Given the description of an element on the screen output the (x, y) to click on. 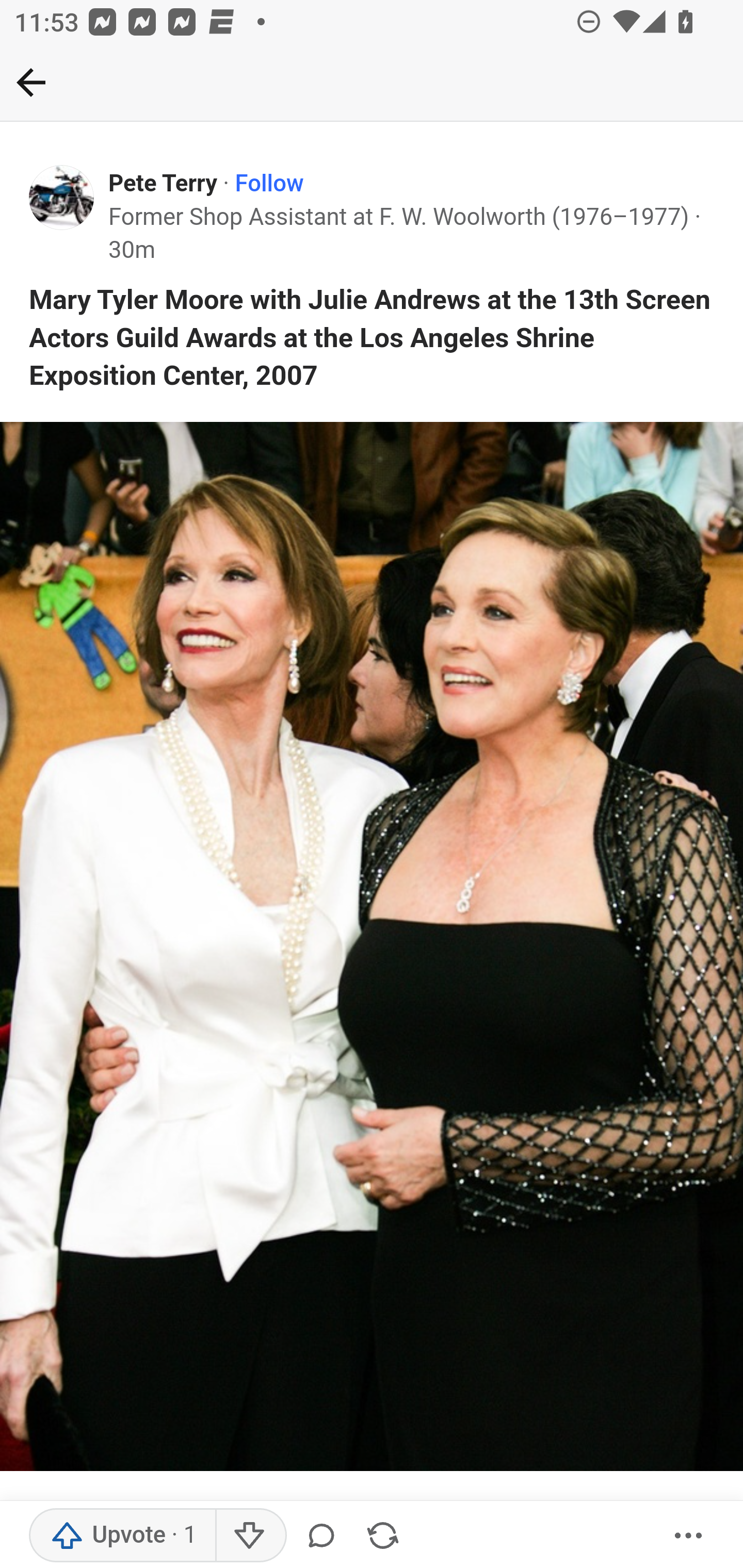
Back (30, 82)
Profile photo for Pete Terry (61, 198)
Pete Terry (163, 183)
Follow (269, 183)
Upvote (122, 1535)
Downvote (249, 1535)
Comment (324, 1535)
Share (382, 1535)
More (688, 1535)
